Given the description of an element on the screen output the (x, y) to click on. 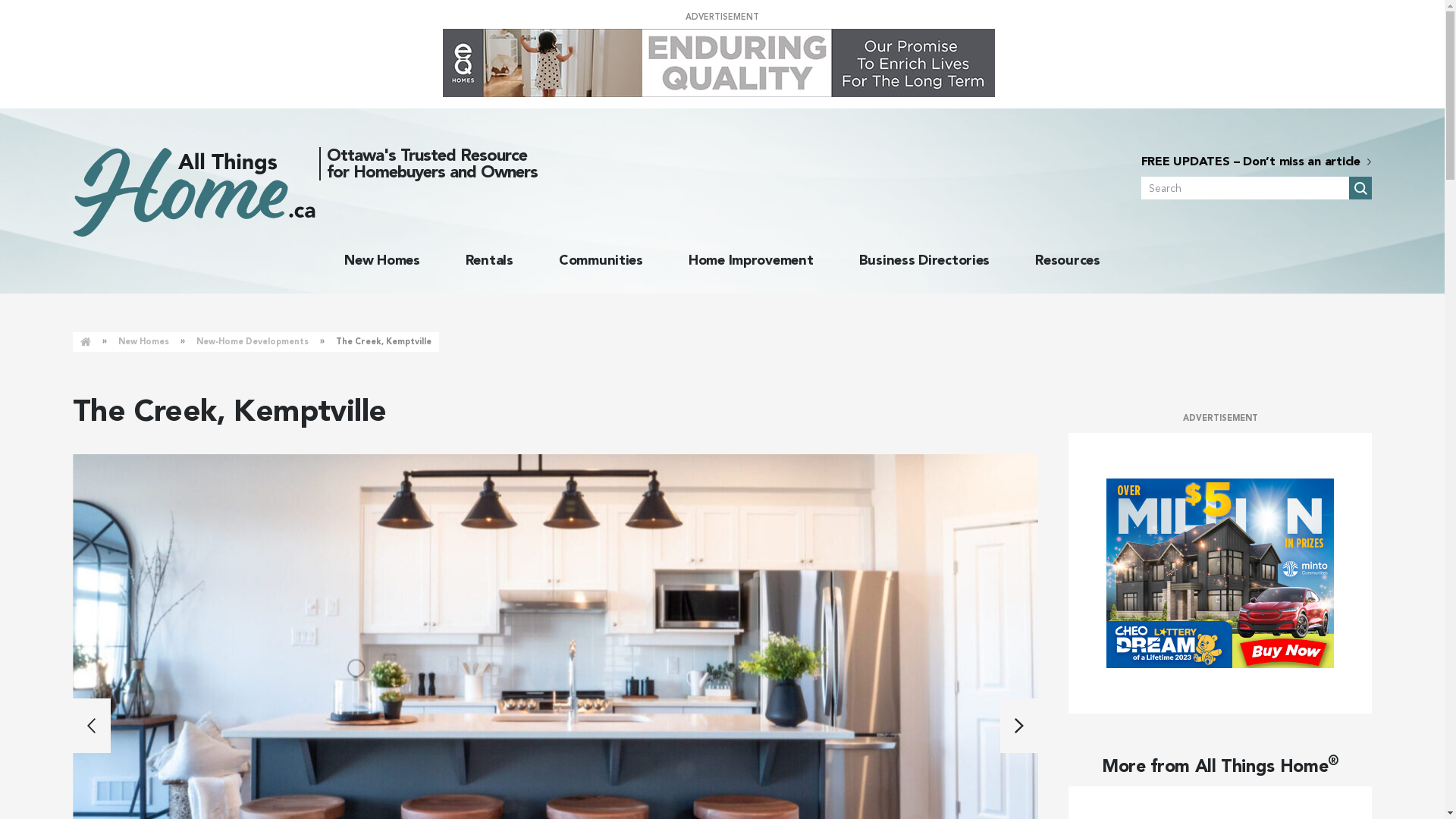
Home Improvement Element type: text (750, 259)
New Homes Element type: text (143, 341)
Search Element type: hover (1360, 187)
Communities Element type: text (600, 259)
New Homes Element type: text (381, 259)
Resources Element type: text (1067, 259)
New-Home Developments Element type: text (252, 341)
Rentals Element type: text (489, 259)
Business Directories Element type: text (924, 259)
